Given the description of an element on the screen output the (x, y) to click on. 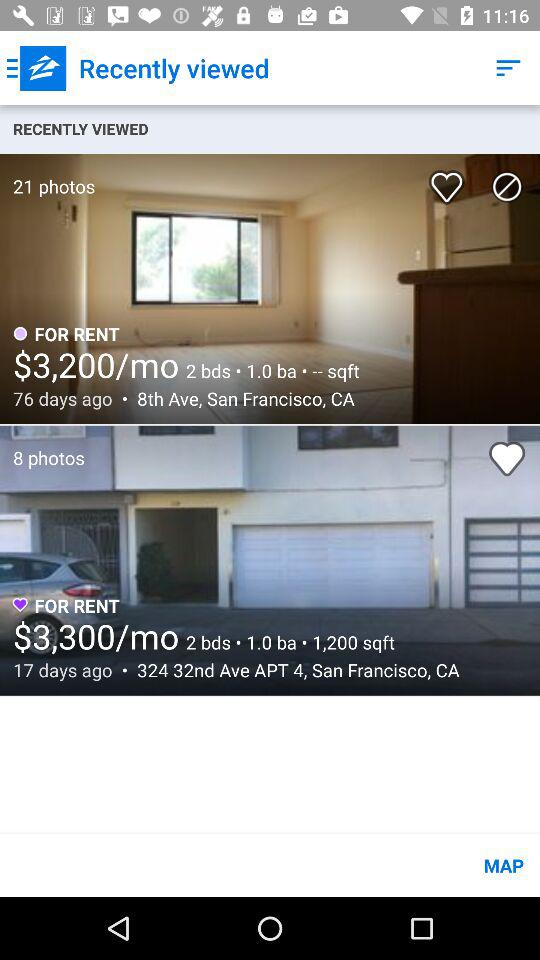
launch the icon above recently viewed item (508, 67)
